Given the description of an element on the screen output the (x, y) to click on. 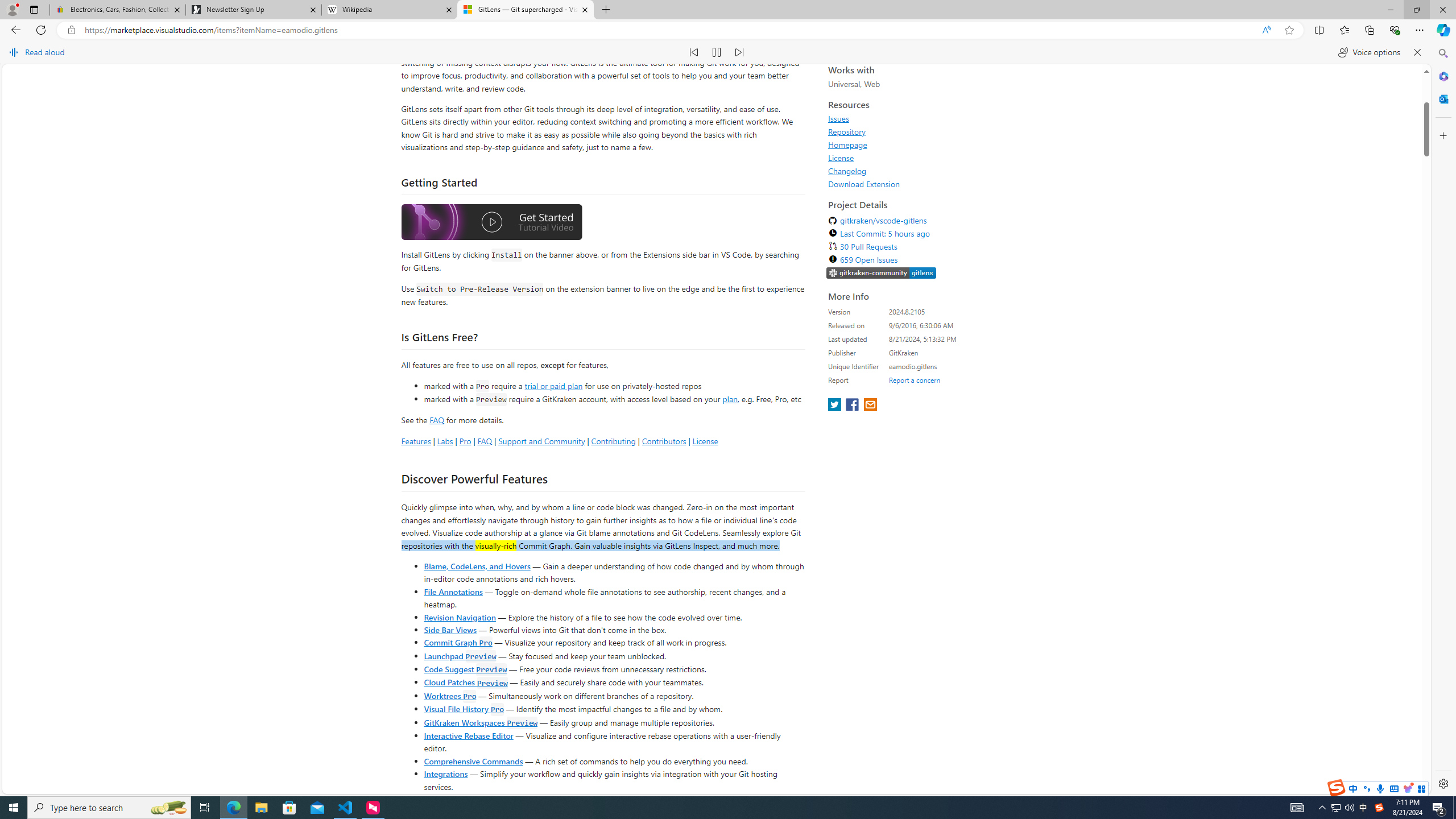
Contributing (613, 627)
Version History (489, 115)
share extension on email (869, 592)
Pro (464, 627)
Download Extension (863, 370)
Wikipedia (390, 9)
Changelog (847, 357)
